Given the description of an element on the screen output the (x, y) to click on. 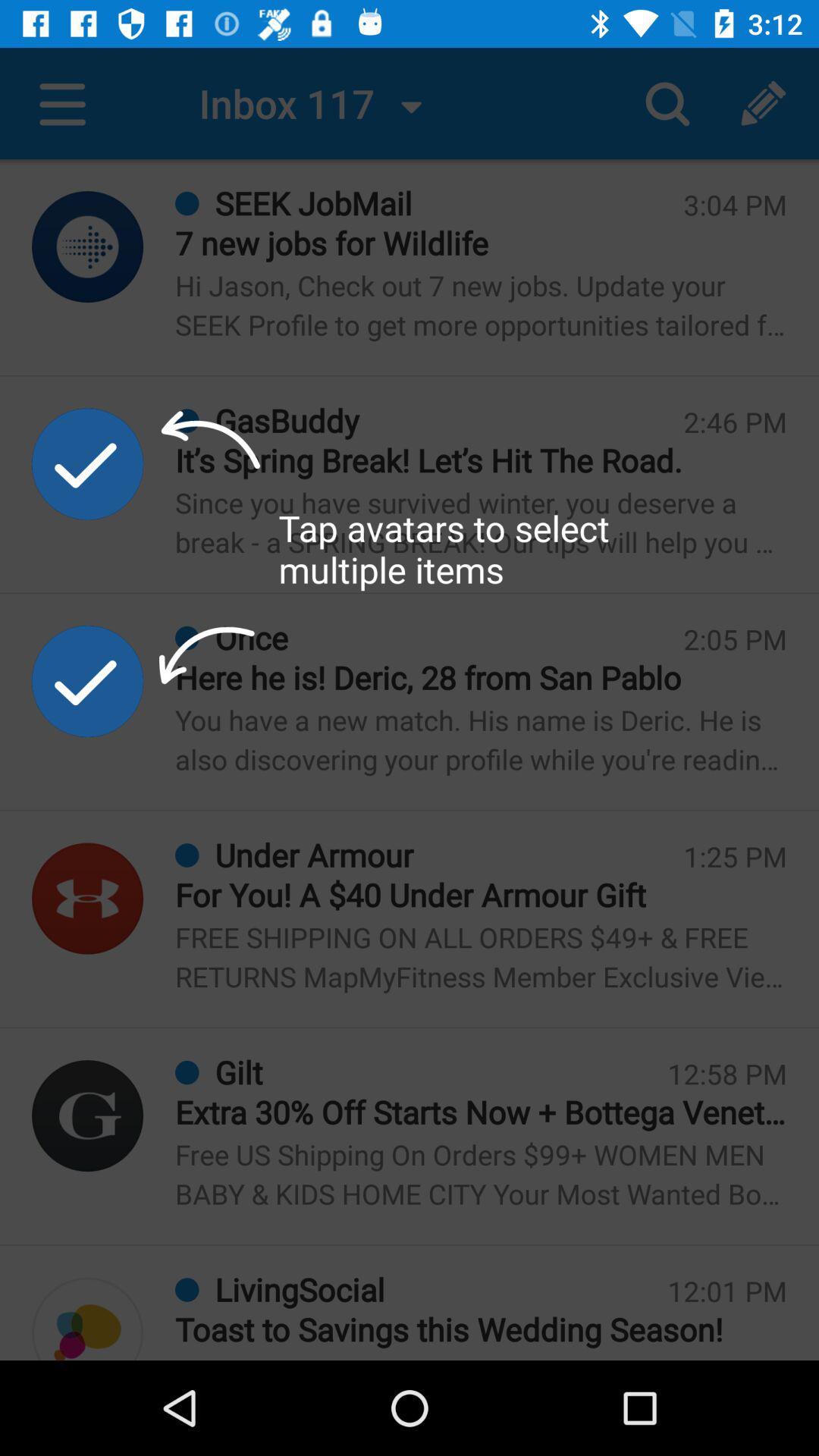
find account info (87, 898)
